Given the description of an element on the screen output the (x, y) to click on. 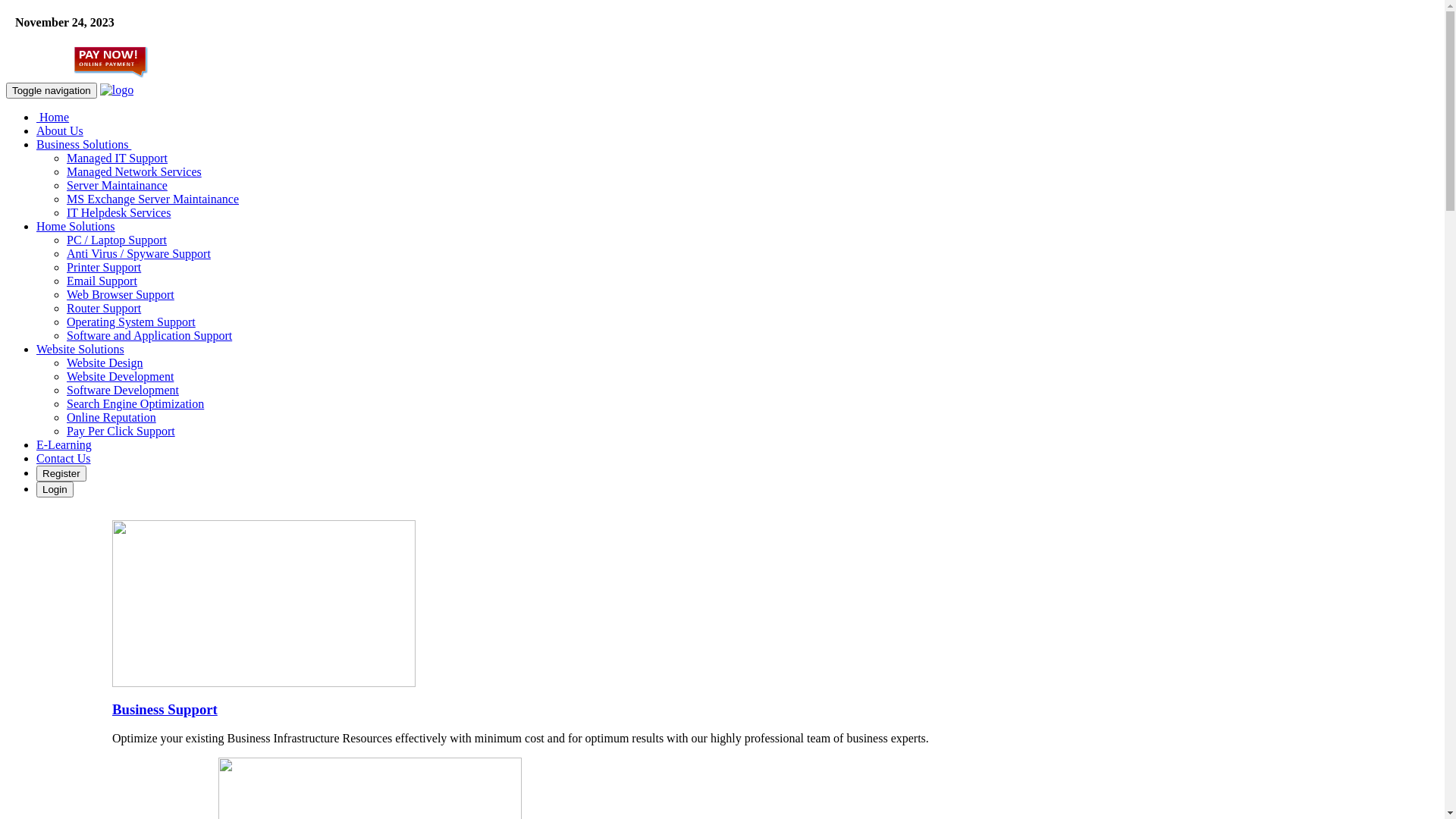
Contact Us Element type: text (63, 457)
Toggle navigation Element type: text (51, 90)
Website Solutions Element type: text (80, 348)
Login Element type: text (54, 489)
Software and Application Support Element type: text (149, 335)
Managed Network Services Element type: text (133, 171)
Register Element type: text (61, 473)
 Home Element type: text (52, 116)
Printer Support Element type: text (103, 266)
Home Solutions Element type: text (75, 225)
MS Exchange Server Maintainance Element type: text (152, 198)
Online Reputation Element type: text (111, 417)
Business Solutions  Element type: text (83, 144)
Search Engine Optimization Element type: text (134, 403)
Pay Per Click Support Element type: text (120, 430)
Email Support Element type: text (101, 280)
Website Development Element type: text (119, 376)
Server Maintainance Element type: text (116, 184)
Website Design Element type: text (104, 362)
Anti Virus / Spyware Support Element type: text (138, 253)
Business Support Element type: text (164, 709)
Managed IT Support Element type: text (116, 157)
Software Development Element type: text (122, 389)
IT Helpdesk Services Element type: text (118, 212)
Operating System Support Element type: text (130, 321)
Web Browser Support Element type: text (120, 294)
About Us Element type: text (59, 130)
E-Learning Element type: text (63, 444)
PC / Laptop Support Element type: text (116, 239)
Router Support Element type: text (103, 307)
